Given the description of an element on the screen output the (x, y) to click on. 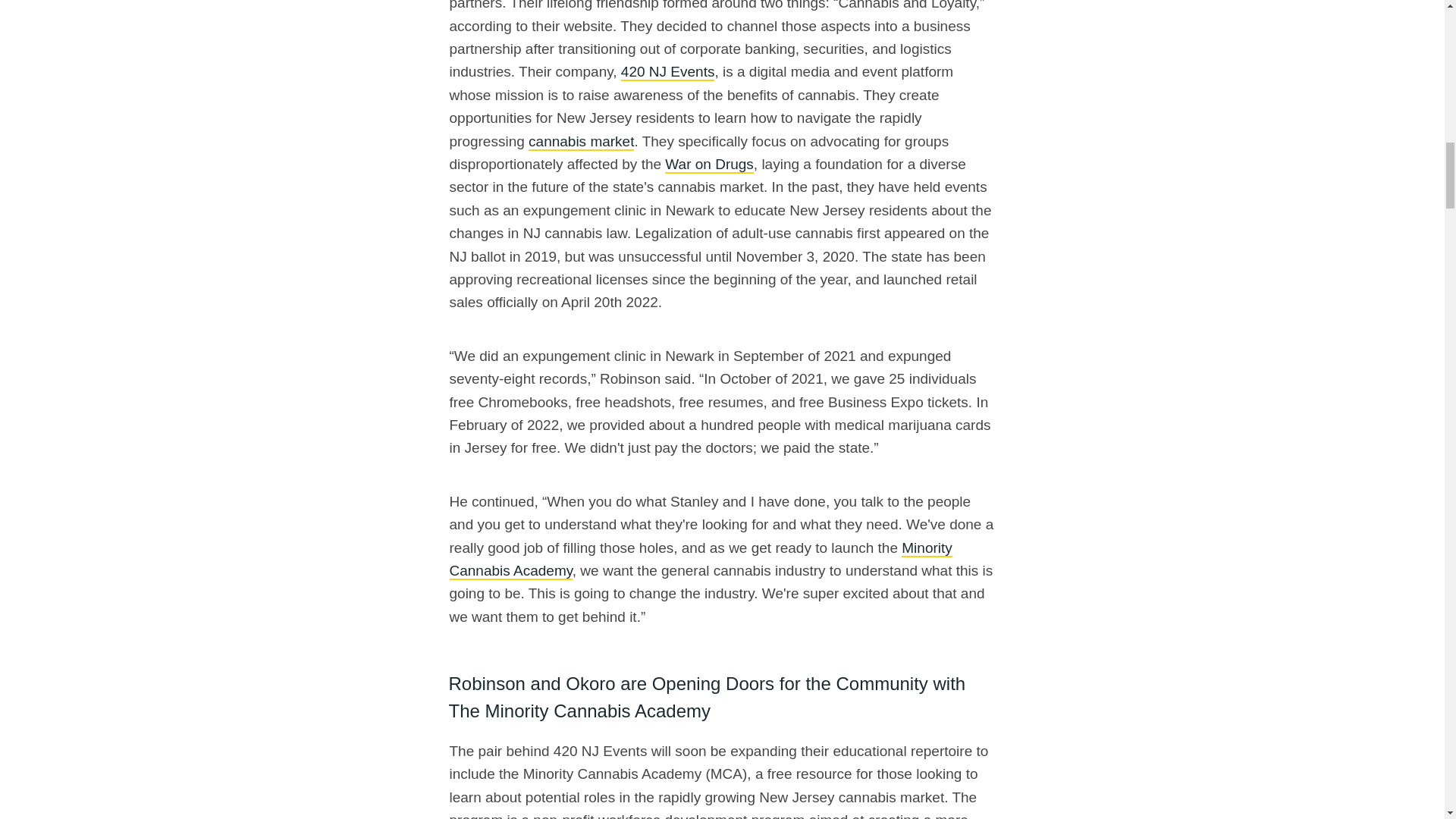
420 NJ Events (667, 72)
War on Drugs (709, 164)
cannabis market (580, 141)
Minority Cannabis Academy (700, 559)
